Given the description of an element on the screen output the (x, y) to click on. 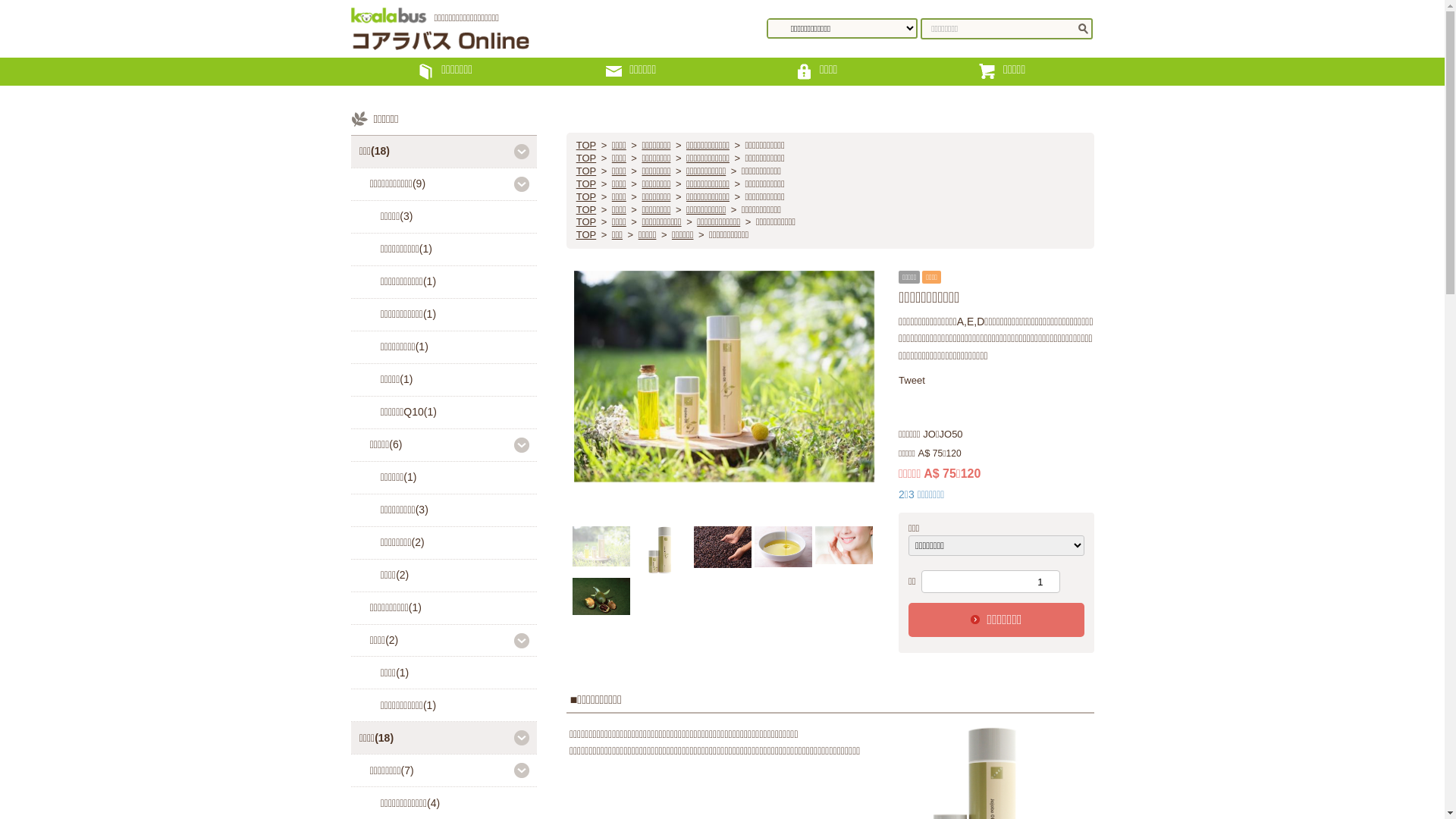
TOP Element type: text (586, 184)
Tweet Element type: text (911, 379)
TOP Element type: text (586, 158)
TOP Element type: text (586, 197)
TOP Element type: text (586, 222)
TOP Element type: text (586, 145)
TOP Element type: text (586, 235)
TOP Element type: text (586, 171)
TOP Element type: text (586, 209)
